Given the description of an element on the screen output the (x, y) to click on. 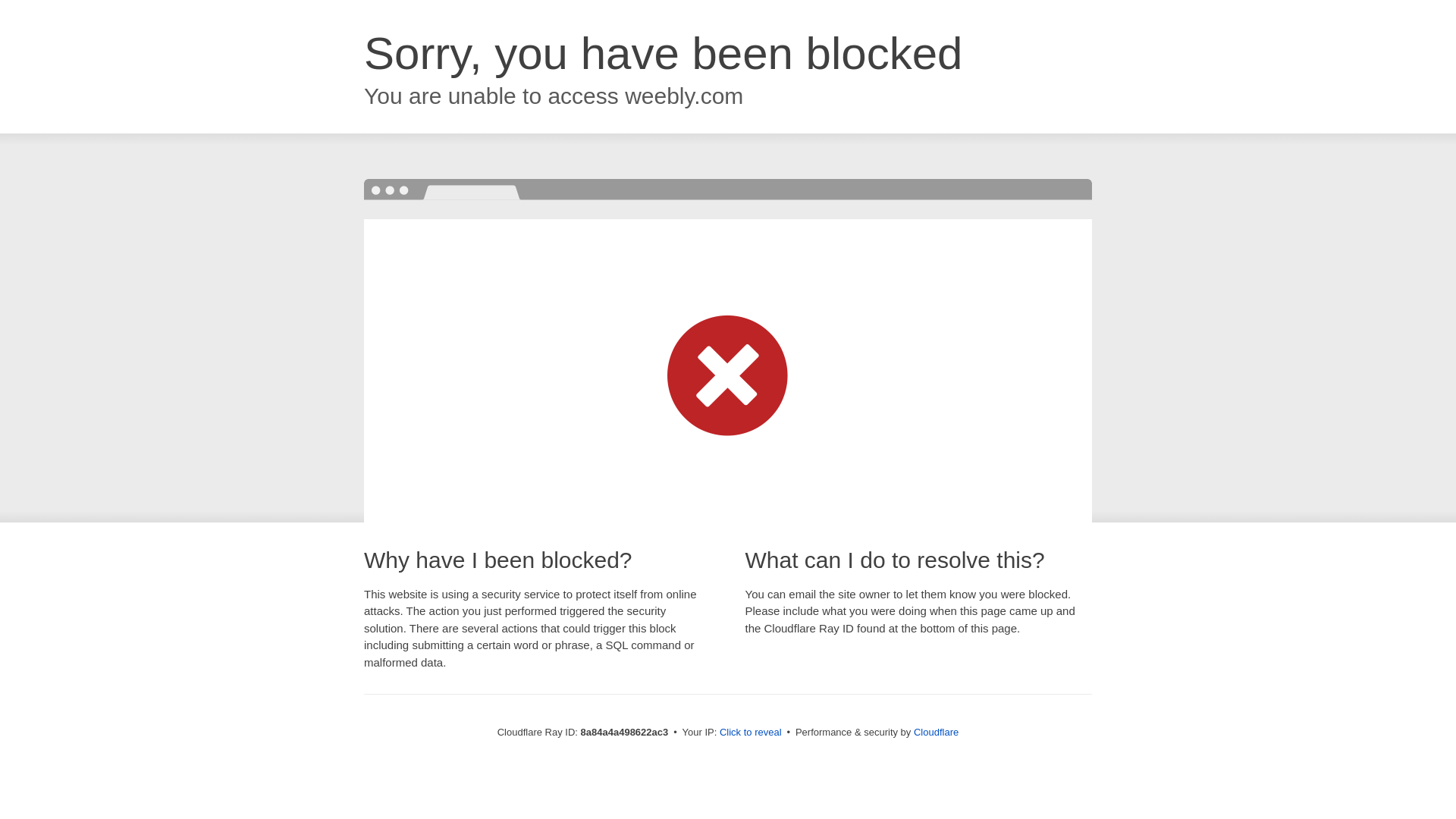
Cloudflare (936, 731)
Click to reveal (750, 732)
